Given the description of an element on the screen output the (x, y) to click on. 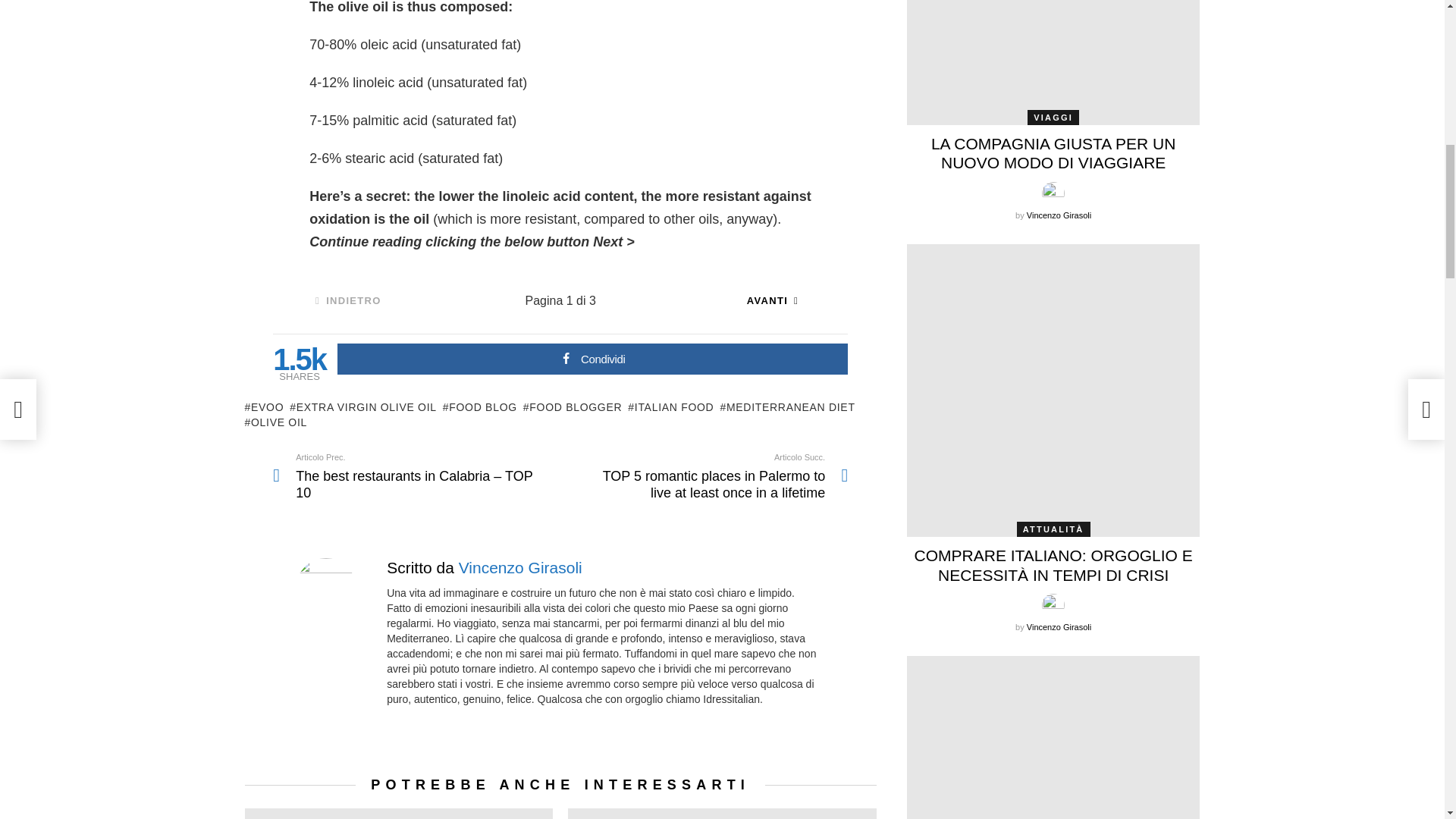
MEDITERRANEAN DIET (786, 406)
The 13 Most Beautiful Places by the Sea in Italy (721, 813)
Condividi (592, 358)
FOOD BLOG (479, 406)
EXTRA VIRGIN OLIVE OIL (362, 406)
EVOO (263, 406)
ITALIAN FOOD (670, 406)
FOOD BLOGGER (571, 406)
AVANTI (772, 300)
